Given the description of an element on the screen output the (x, y) to click on. 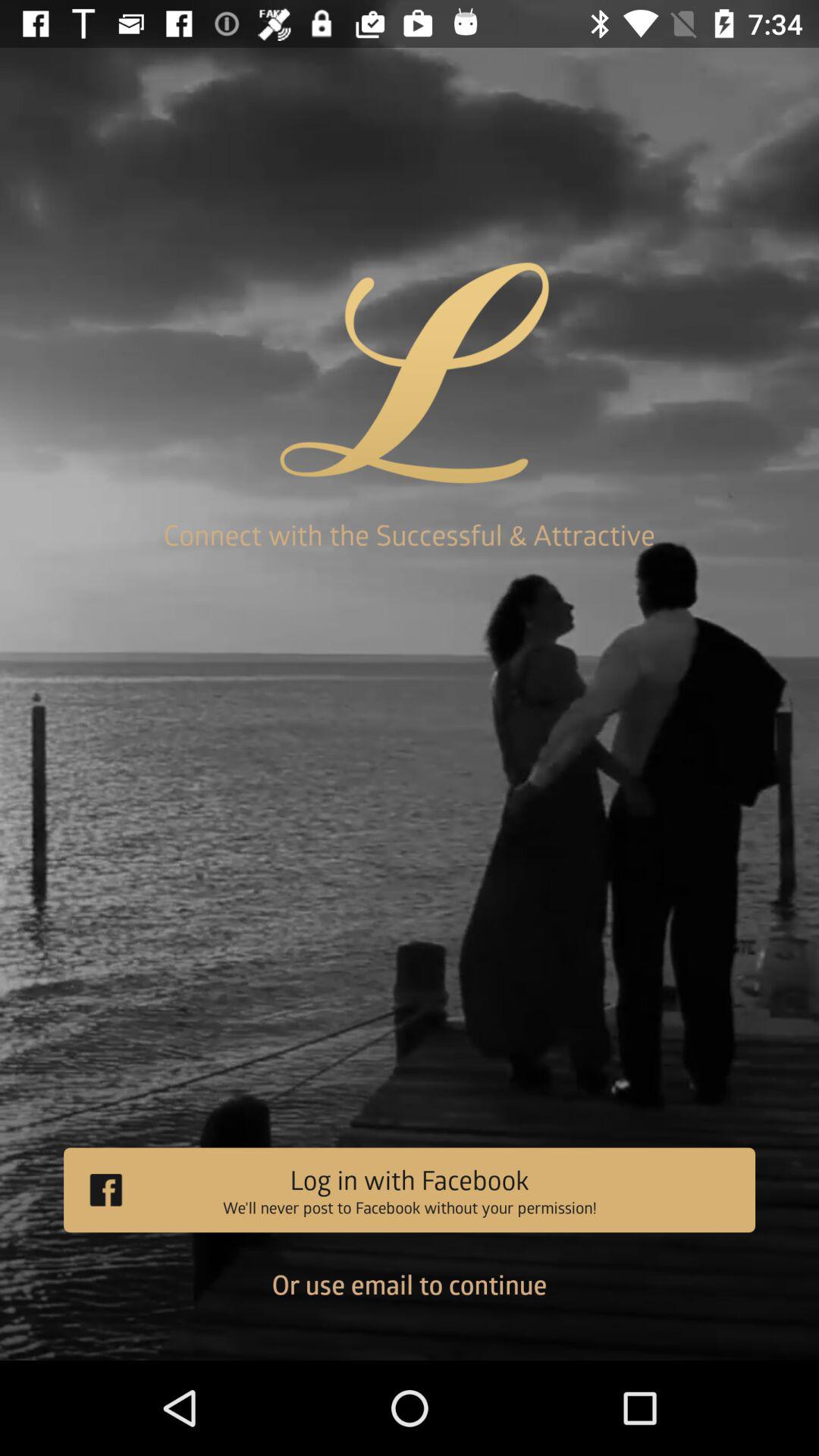
swipe until the or use email (409, 1296)
